Given the description of an element on the screen output the (x, y) to click on. 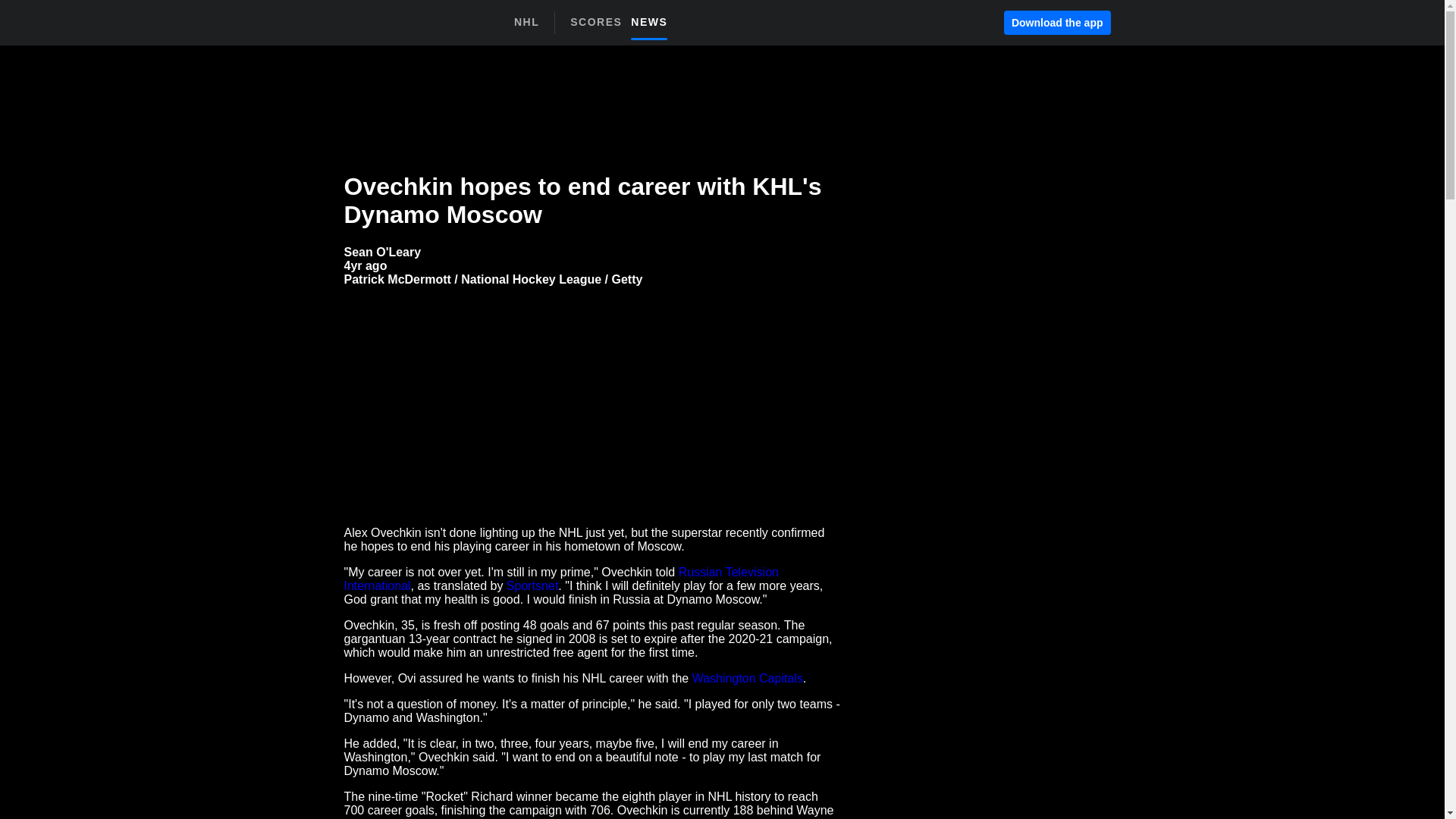
Download the app (1057, 22)
NEWS (623, 26)
SCORES (653, 21)
2020-11-05T22:32:53.000Z (600, 21)
Washington Capitals (365, 265)
Sean O'Leary (748, 677)
Sportsnet (382, 251)
Russian Television International (531, 585)
NHL (560, 578)
